Given the description of an element on the screen output the (x, y) to click on. 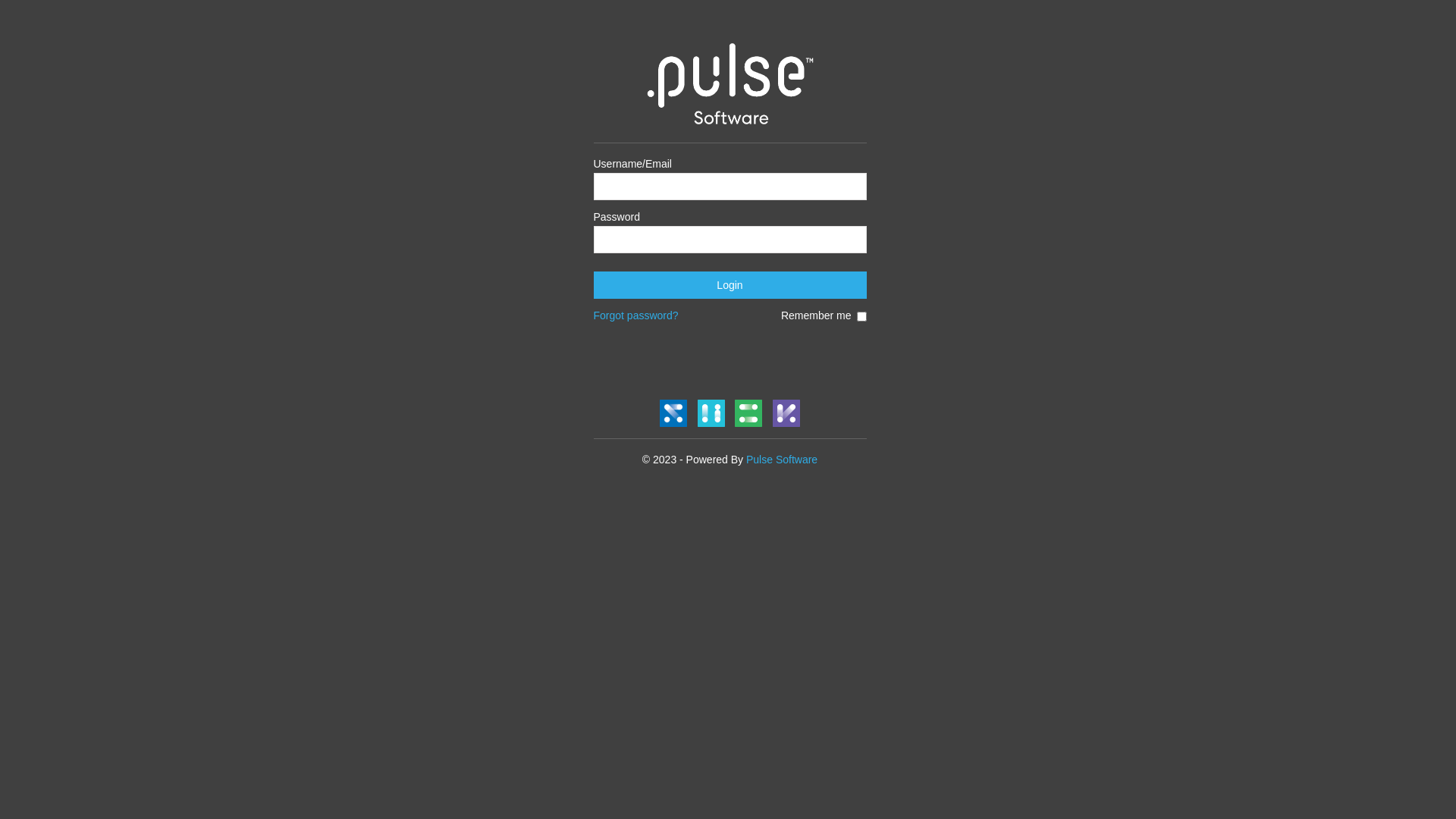
Projects Element type: hover (748, 412)
Login Element type: text (729, 284)
Pulse Software Element type: text (781, 459)
Governance Element type: hover (785, 412)
Forgot password? Element type: text (635, 315)
Talent Element type: hover (710, 412)
Strategy Element type: hover (672, 412)
